Given the description of an element on the screen output the (x, y) to click on. 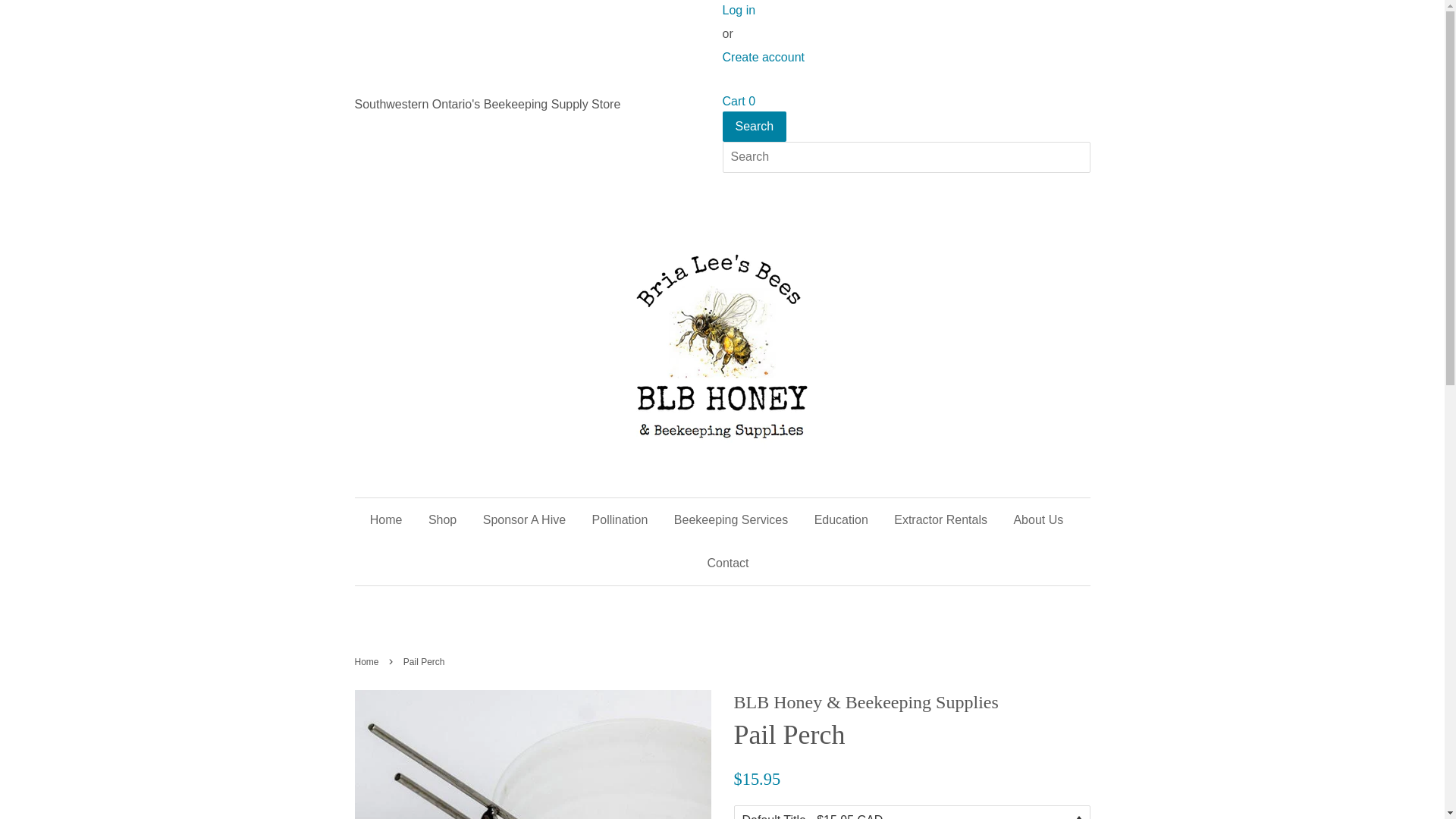
Home Element type: text (392, 519)
Cart 0 Element type: text (738, 100)
Shop Element type: text (442, 519)
About Us Element type: text (1037, 519)
Beekeeping Services Element type: text (730, 519)
Search Element type: text (753, 126)
Log in Element type: text (738, 9)
Contact Element type: text (721, 562)
Create account Element type: text (762, 56)
Home Element type: text (368, 661)
Pollination Element type: text (619, 519)
Education Element type: text (841, 519)
Extractor Rentals Element type: text (940, 519)
Sponsor A Hive Element type: text (524, 519)
